Given the description of an element on the screen output the (x, y) to click on. 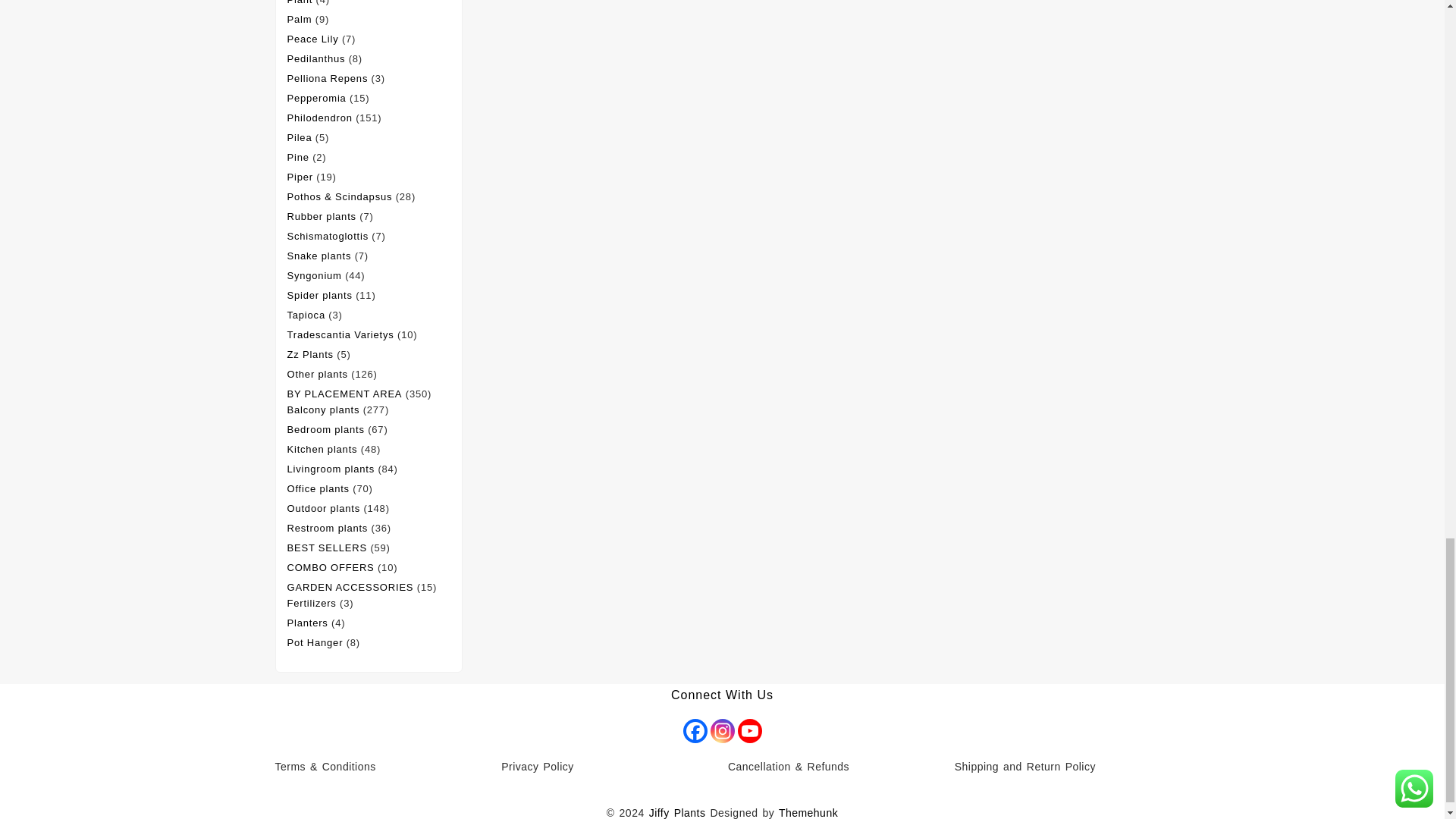
Instagram (721, 730)
Facebook (694, 730)
Youtube Channel (748, 730)
